Given the description of an element on the screen output the (x, y) to click on. 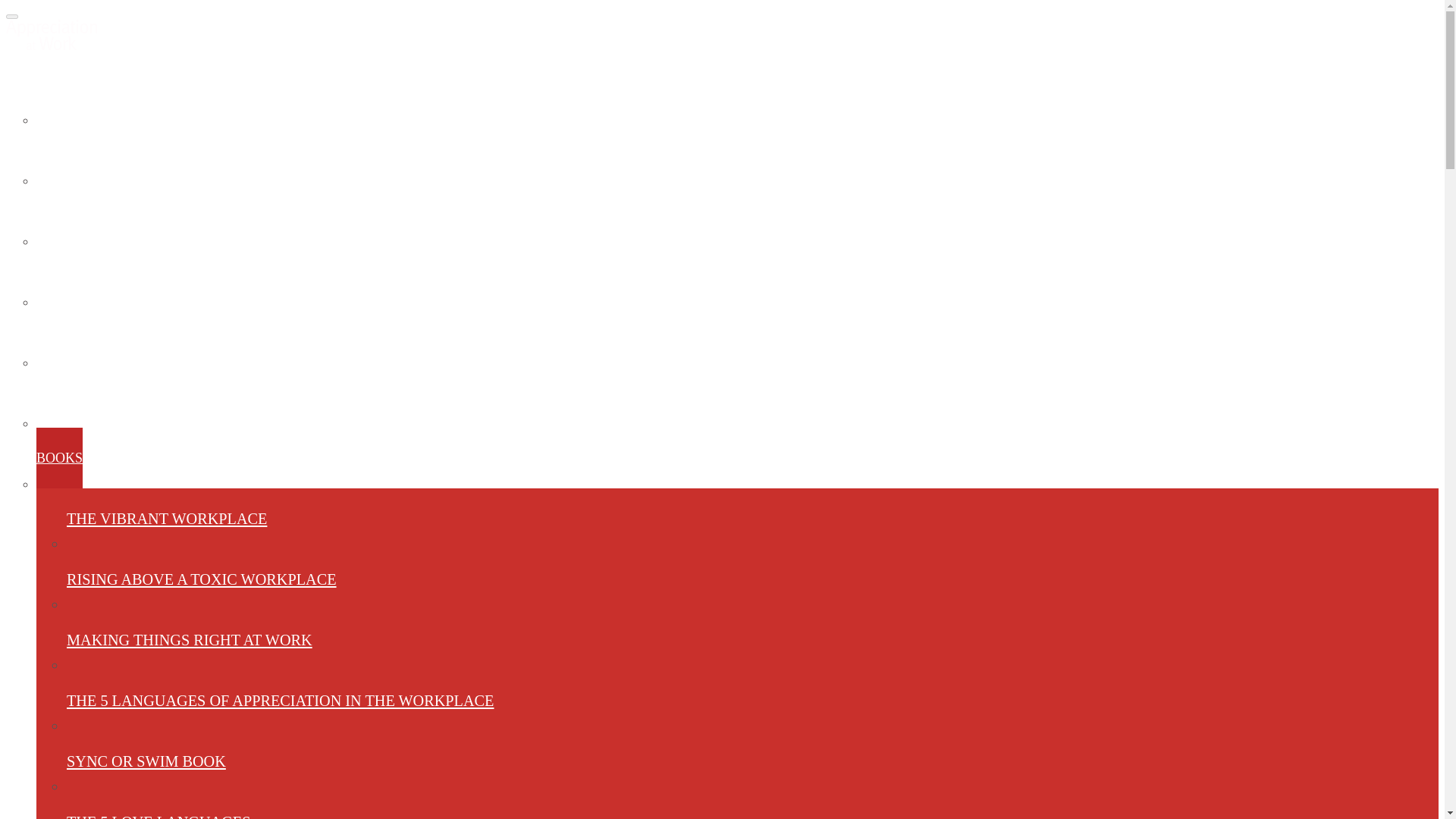
BOOKS (59, 457)
THE VIBRANT WORKPLACE (79, 93)
THE 5 LANGUAGES OF APPRECIATION IN THE WORKPLACE (166, 518)
CONTACT (279, 700)
BLOG (68, 396)
SHOP (55, 275)
THE 5 LOVE LANGUAGES (53, 336)
RISING ABOVE A TOXIC WORKPLACE (158, 805)
MAKING THINGS RIGHT AT WORK (201, 578)
Toggle navigation (189, 639)
SYNC OR SWIM BOOK (11, 16)
